Given the description of an element on the screen output the (x, y) to click on. 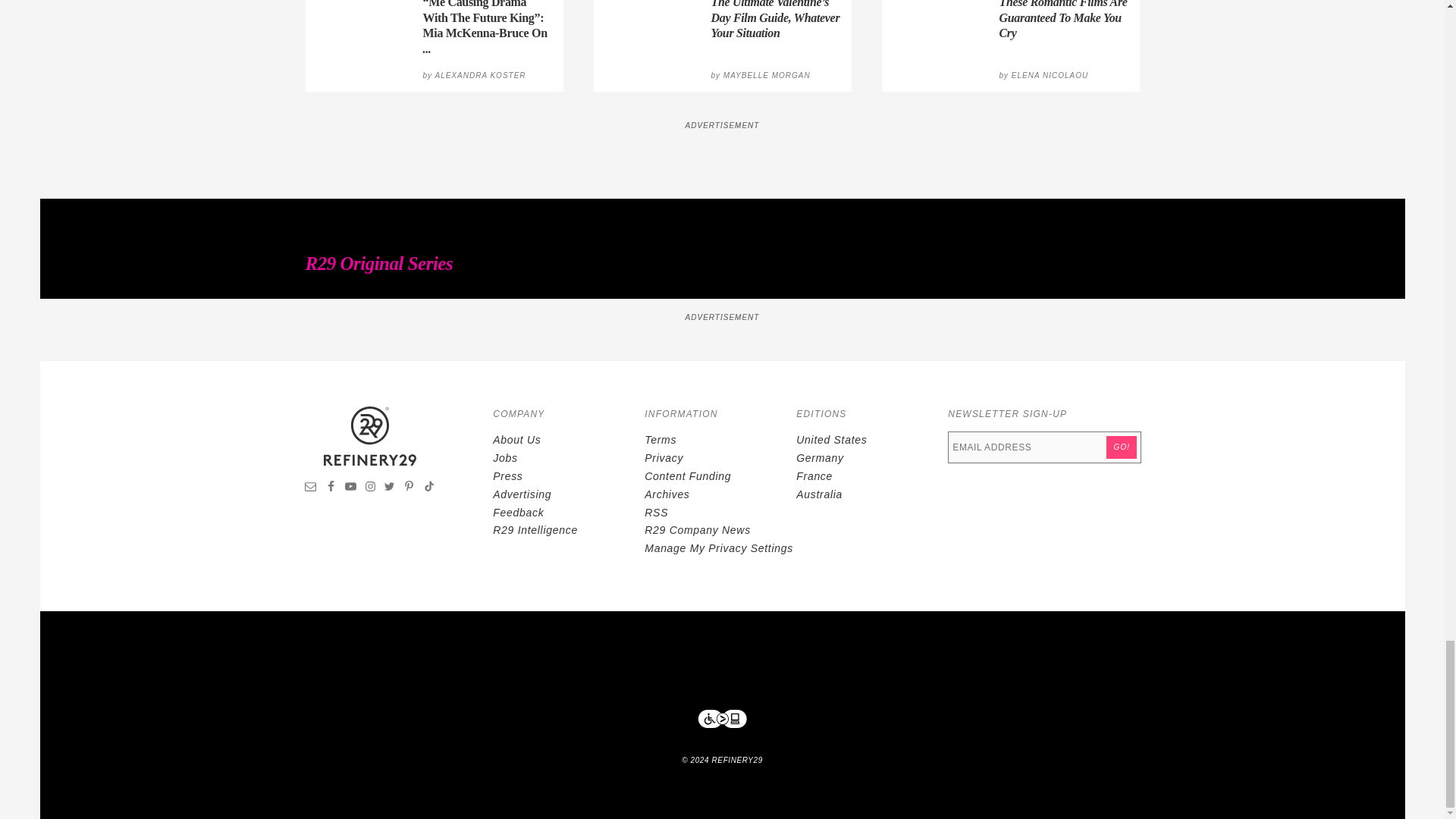
Visit Refinery29 on TikTok (428, 488)
Sign up for newsletters (310, 488)
Visit Refinery29 on YouTube (350, 488)
